Given the description of an element on the screen output the (x, y) to click on. 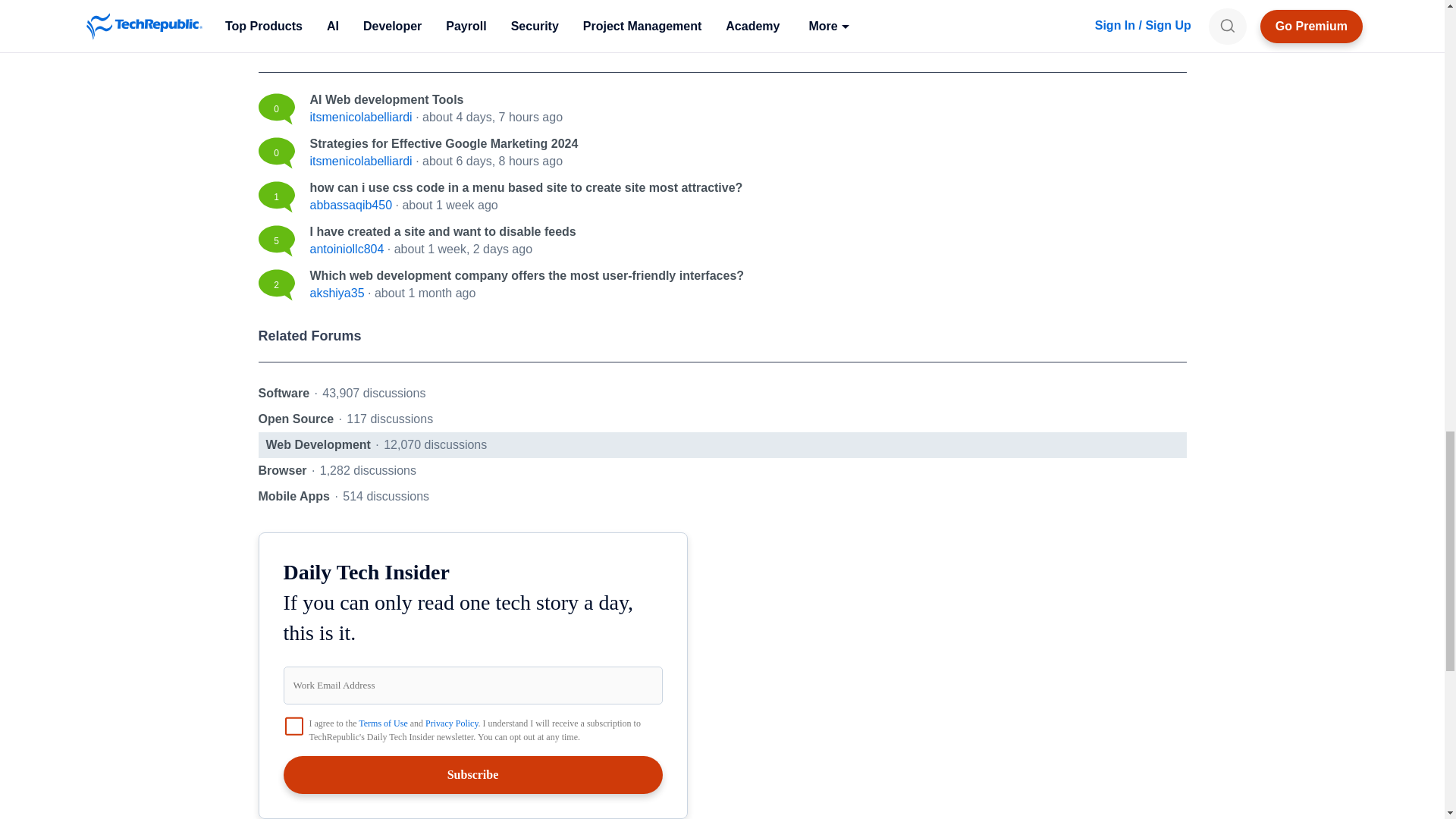
View abbassaqib450's profile (349, 205)
View itsmenicolabelliardi's profile (360, 160)
View akshiya35's profile (336, 292)
View itsmenicolabelliardi's profile (360, 116)
on (293, 726)
View antoiniollc804's profile (346, 248)
